Given the description of an element on the screen output the (x, y) to click on. 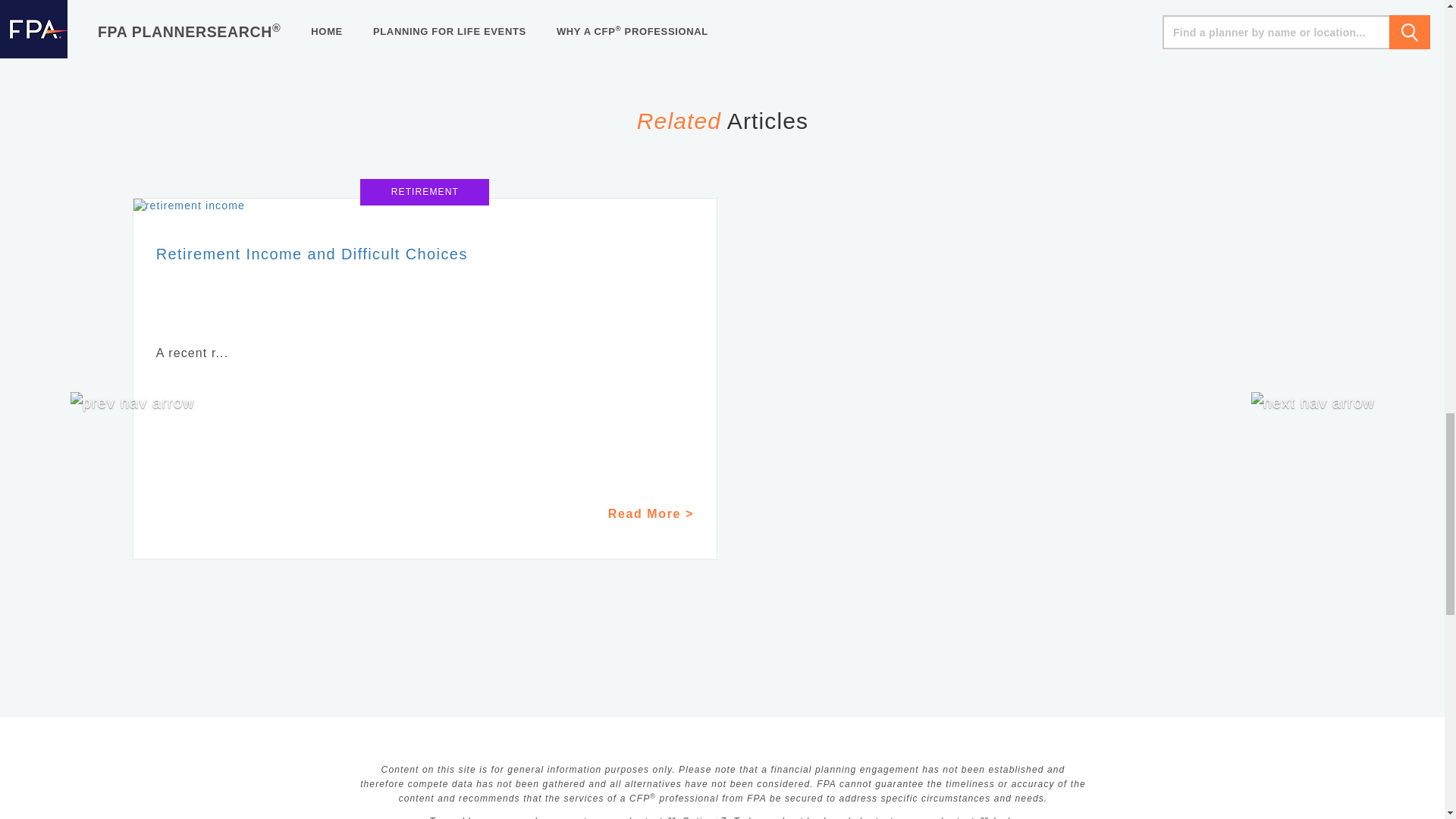
Retirement Income and Difficult Choices (424, 206)
Retirement Income and Difficult Choices (311, 253)
